Given the description of an element on the screen output the (x, y) to click on. 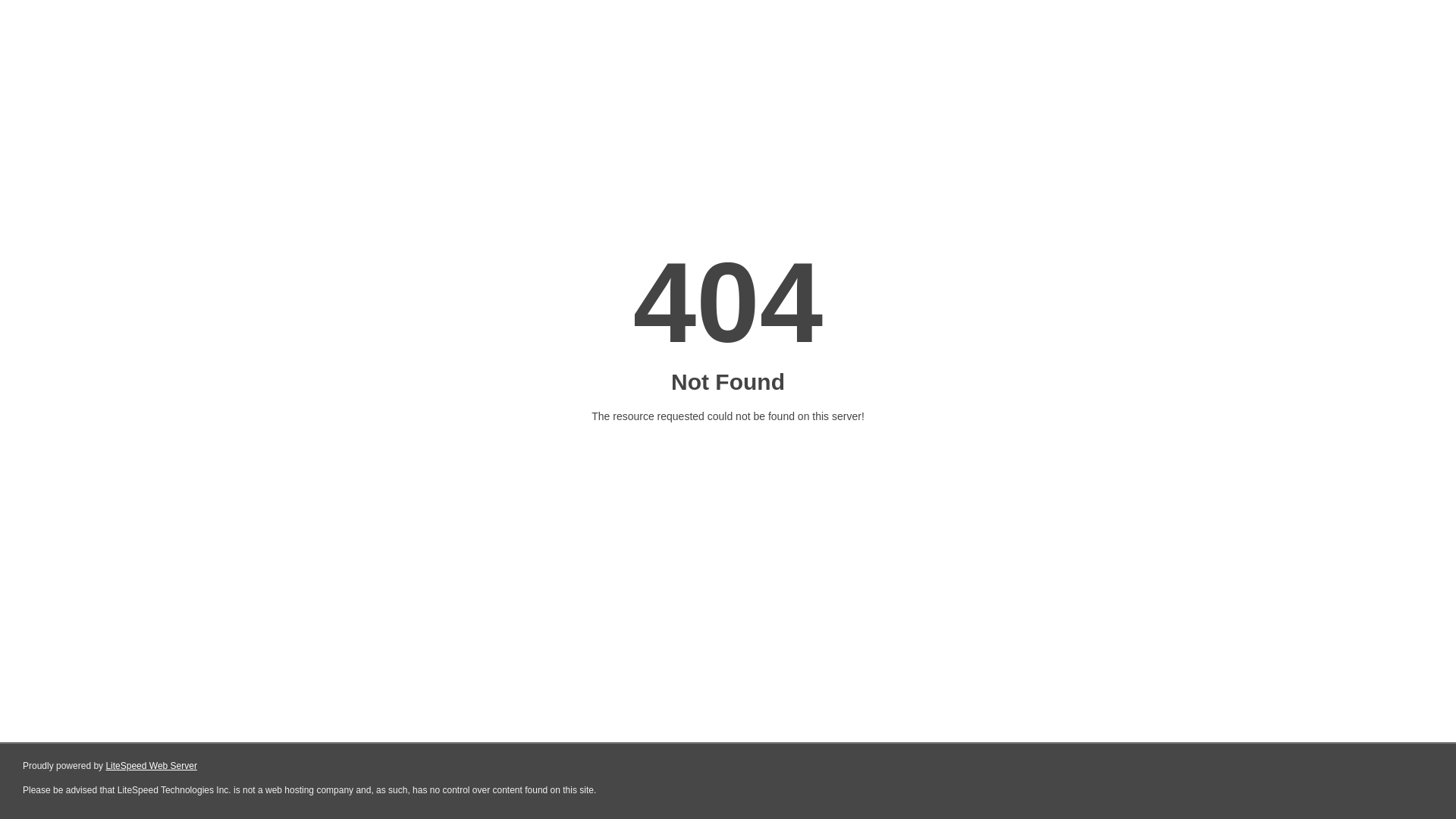
LiteSpeed Web Server Element type: text (151, 765)
